Given the description of an element on the screen output the (x, y) to click on. 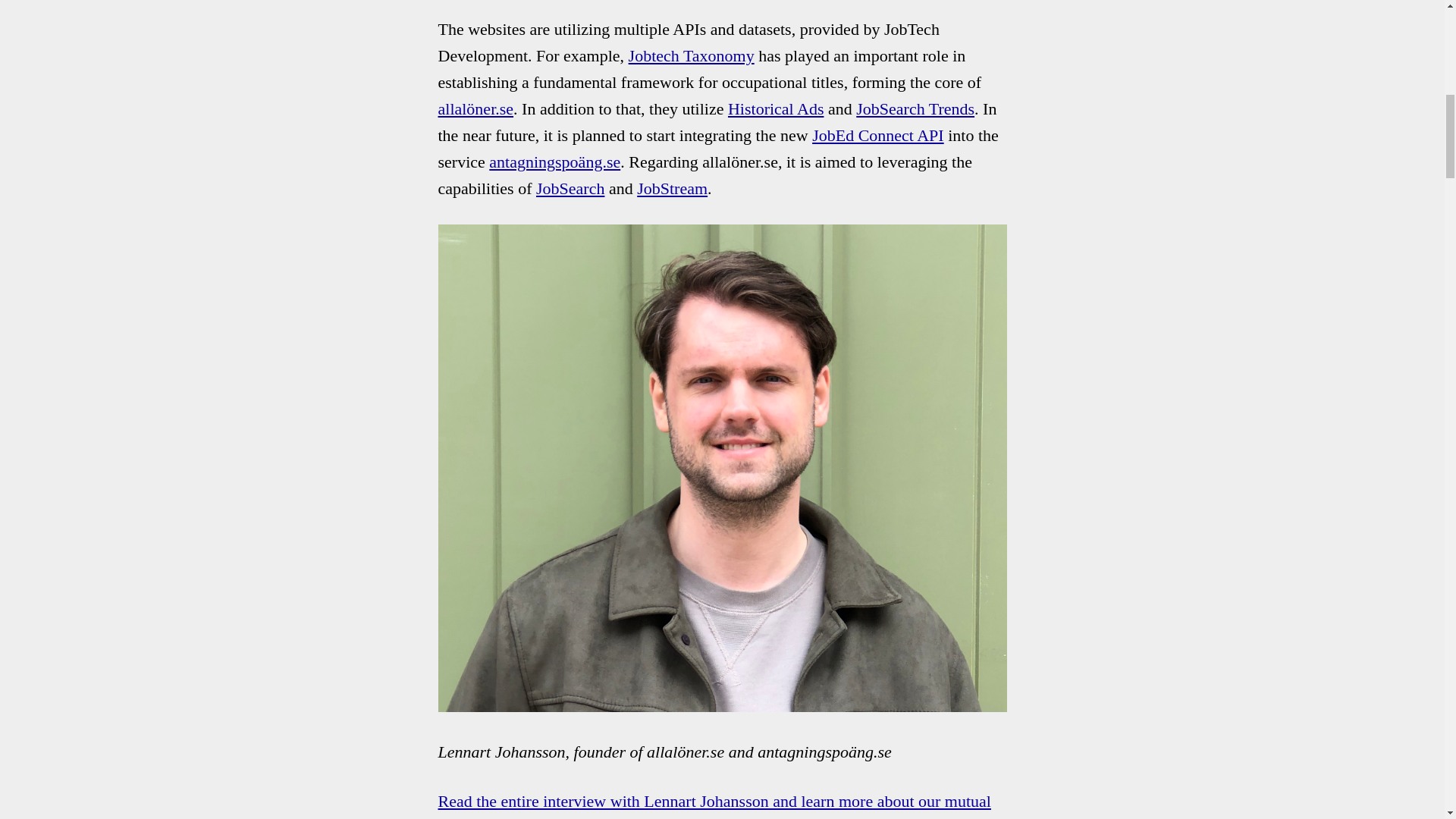
JobSearch (569, 188)
Historical Ads (776, 108)
Jobtech Taxonomy (691, 55)
JobEd Connect API (877, 135)
JobSearch Trends (915, 108)
JobStream (672, 188)
